Given the description of an element on the screen output the (x, y) to click on. 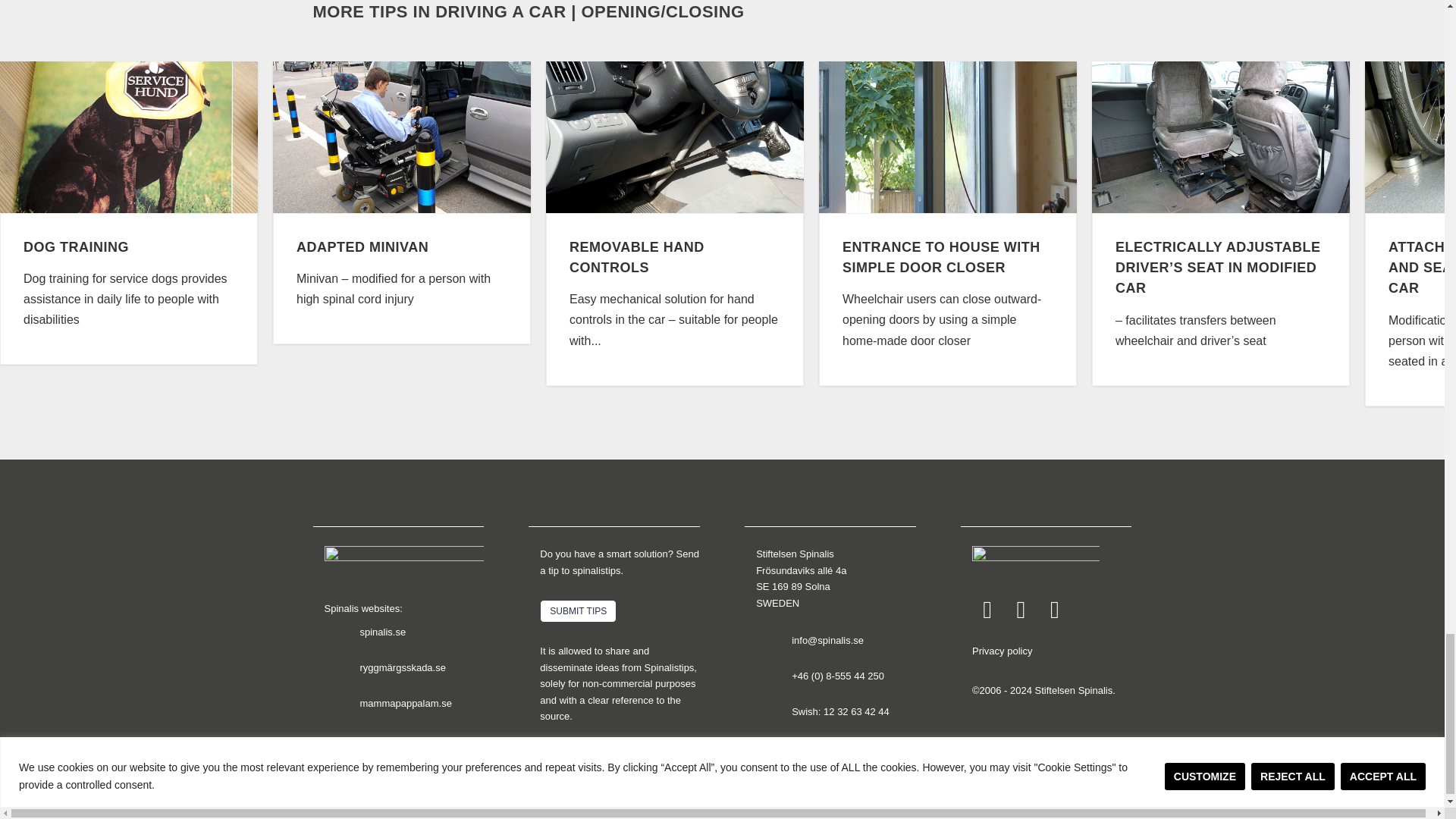
spinalistips-logo-free (403, 562)
